Given the description of an element on the screen output the (x, y) to click on. 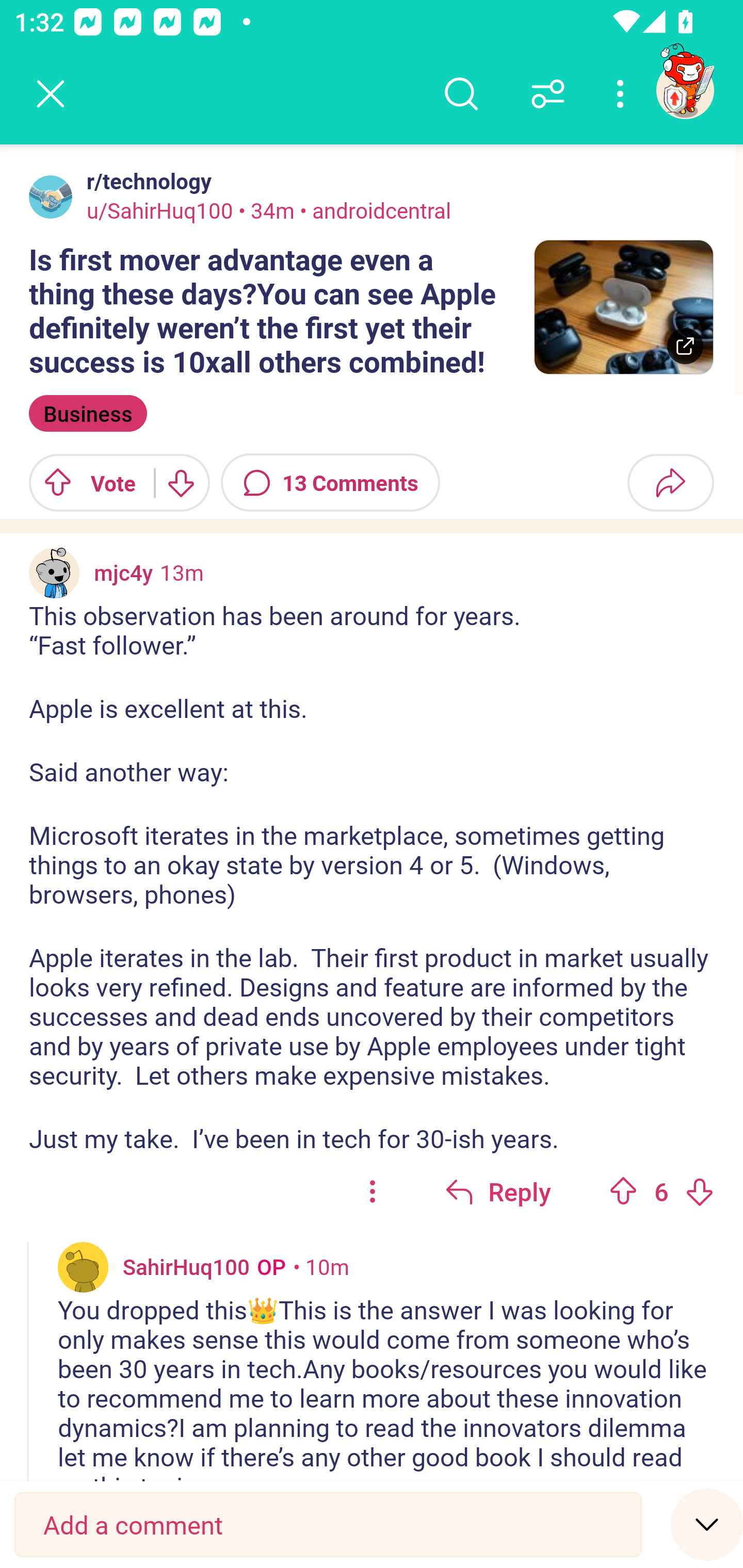
Back (50, 93)
TestAppium002 account (685, 90)
Search comments (460, 93)
Sort comments (547, 93)
More options (623, 93)
r/technology (145, 181)
Avatar (50, 196)
u/SahirHuq100 (159, 210)
 • androidcentral (372, 210)
Thumbnail image (623, 306)
Business (87, 413)
Upvote Vote (83, 482)
Downvote (179, 482)
13 Comments (329, 482)
Share (670, 482)
Custom avatar (53, 572)
13m (181, 572)
options (372, 1191)
Reply (498, 1191)
Upvote 6 6 votes Downvote (661, 1191)
Upvote (622, 1191)
Downvote (699, 1191)
Avatar (82, 1266)
OP (267, 1266)
• 10m (320, 1266)
Speed read (706, 1524)
Add a comment (327, 1524)
